Given the description of an element on the screen output the (x, y) to click on. 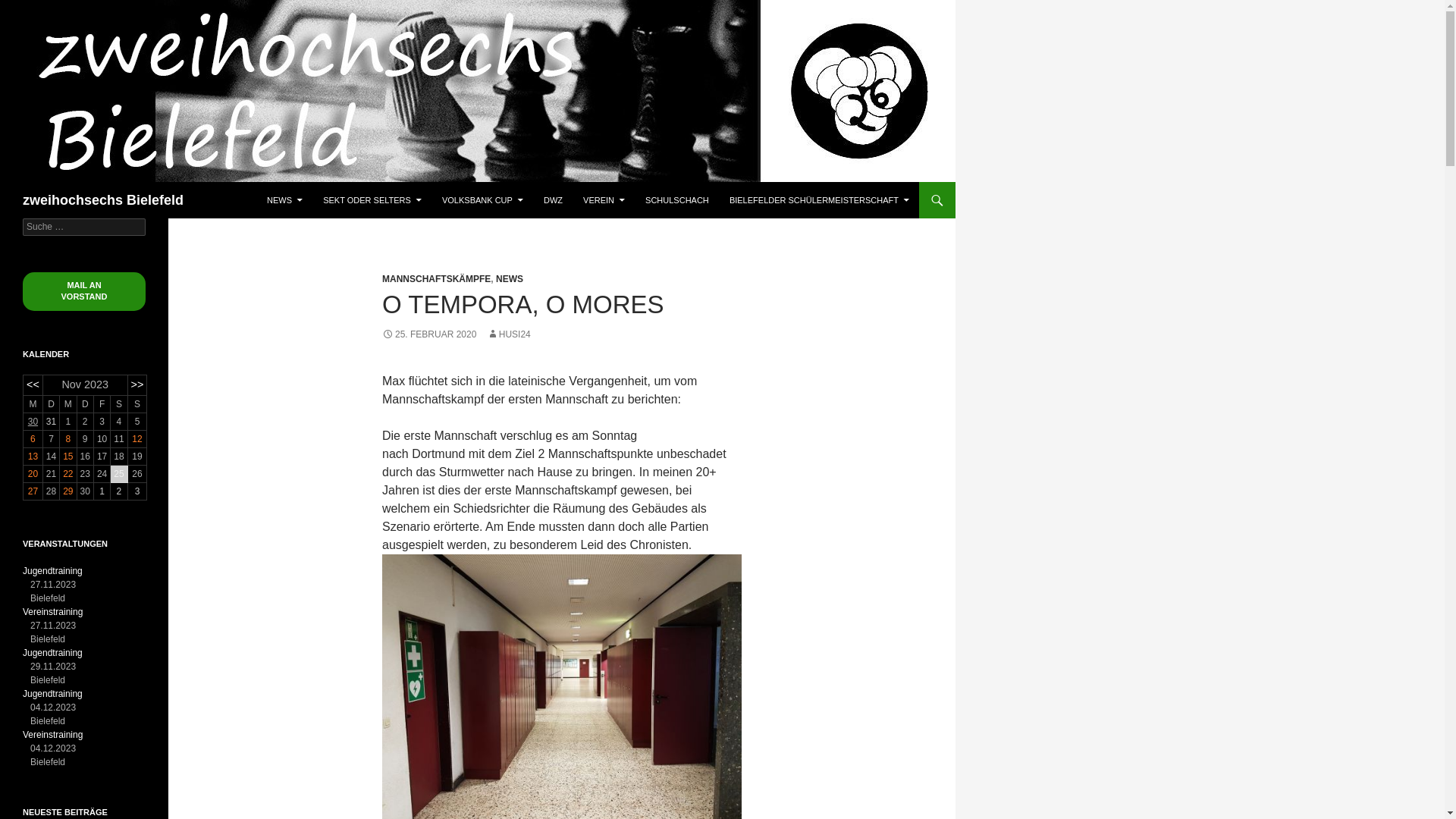
NEWS Element type: text (284, 200)
NEWS Element type: text (509, 278)
VEREIN Element type: text (603, 200)
DWZ Element type: text (552, 200)
25. FEBRUAR 2020 Element type: text (429, 334)
Vereinstraining Element type: text (52, 734)
12 Element type: text (136, 438)
Suche Element type: text (27, 8)
Jugendtraining Element type: text (52, 652)
27 Element type: text (32, 491)
Suchen Element type: text (3, 181)
VOLKSBANK CUP Element type: text (482, 200)
HUSI24 Element type: text (508, 334)
MAIL AN VORSTAND Element type: text (83, 291)
22 Element type: text (67, 473)
ZUM INHALT SPRINGEN Element type: text (266, 181)
29 Element type: text (67, 491)
<< Element type: text (32, 384)
SEKT ODER SELTERS Element type: text (371, 200)
30 Element type: text (32, 421)
SCHULSCHACH Element type: text (677, 200)
6 Element type: text (32, 438)
Jugendtraining Element type: text (52, 693)
Jugendtraining Element type: text (52, 570)
8 Element type: text (67, 438)
20 Element type: text (32, 473)
13 Element type: text (32, 456)
zweihochsechs Bielefeld Element type: text (102, 200)
15 Element type: text (67, 456)
Vereinstraining Element type: text (52, 611)
>> Element type: text (137, 384)
